Given the description of an element on the screen output the (x, y) to click on. 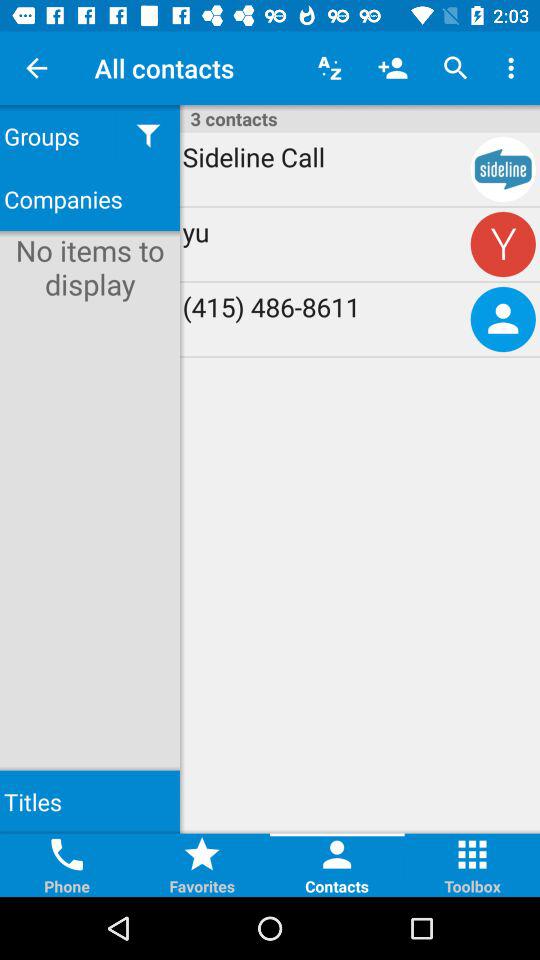
choose icon above 3 contacts item (329, 67)
